Given the description of an element on the screen output the (x, y) to click on. 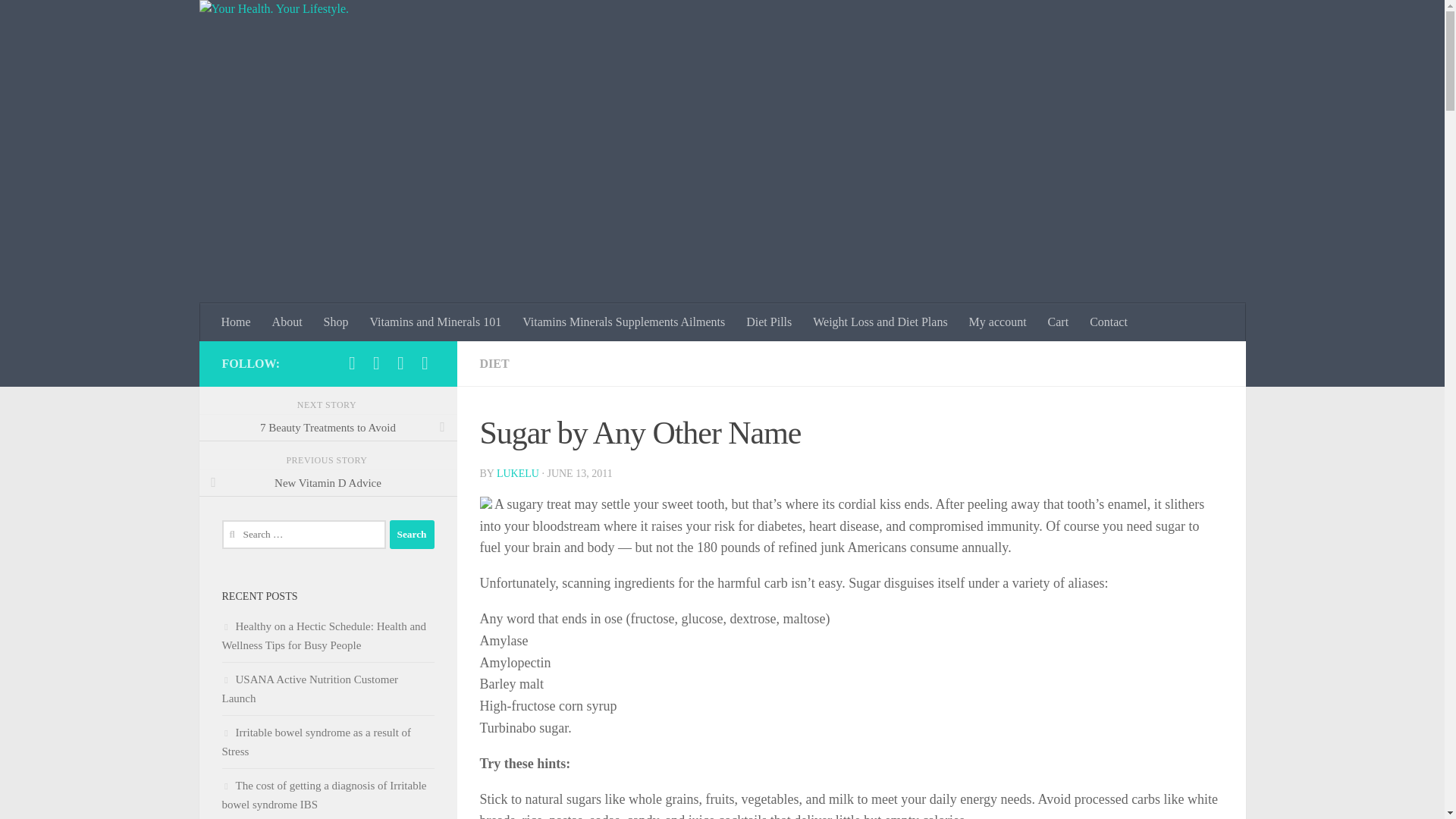
Contact (1108, 322)
Follow us on Instagram (400, 362)
Shop (336, 322)
Vitamins Minerals Supplements Ailments (623, 322)
My account (997, 322)
Weight Loss and Diet Plans (880, 322)
LUKELU (517, 473)
Follow us on Pinterest (423, 362)
Cart (1058, 322)
Search (411, 534)
Follow us on Twitter (375, 362)
DIET (493, 363)
Home (236, 322)
Follow us on Facebook (351, 362)
Diet Pills (768, 322)
